Given the description of an element on the screen output the (x, y) to click on. 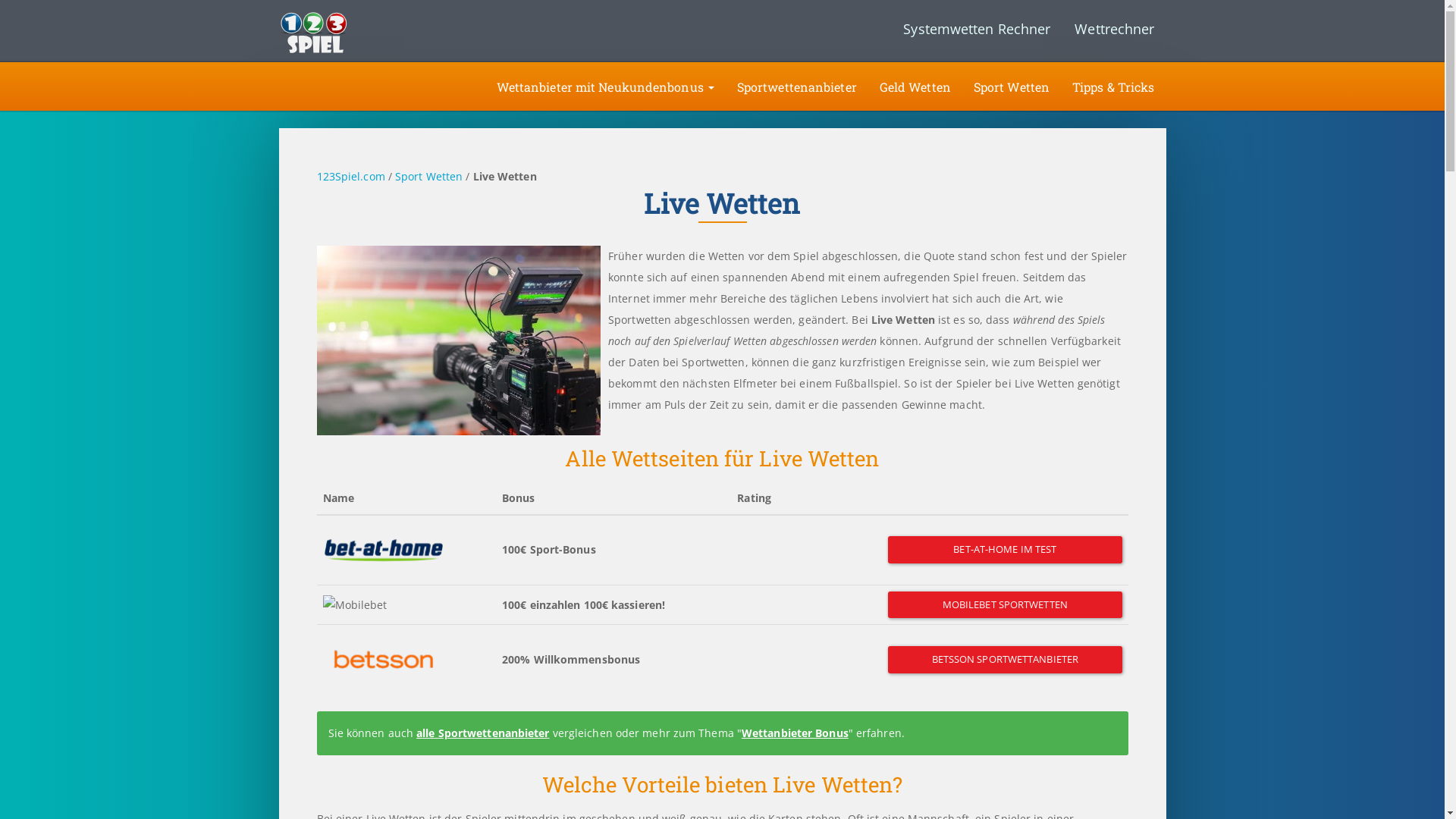
Sportwettenanbieter Element type: text (796, 86)
123Spiel.com Element type: text (350, 176)
BETSSON SPORTWETTANBIETER Element type: text (1004, 659)
Sport Wetten Element type: text (428, 176)
Wettanbieter Bonus Element type: text (794, 732)
Tipps & Tricks Element type: text (1112, 86)
Systemwetten Rechner Element type: text (976, 28)
Wettrechner Element type: text (1114, 28)
MOBILEBET SPORTWETTEN Element type: text (1004, 604)
Wettanbieter mit Neukundenbonus Element type: text (605, 86)
Sport Wetten Element type: text (1011, 86)
alle Sportwettenanbieter Element type: text (482, 732)
BET-AT-HOME IM TEST Element type: text (1004, 549)
Geld Wetten Element type: text (915, 86)
